Given the description of an element on the screen output the (x, y) to click on. 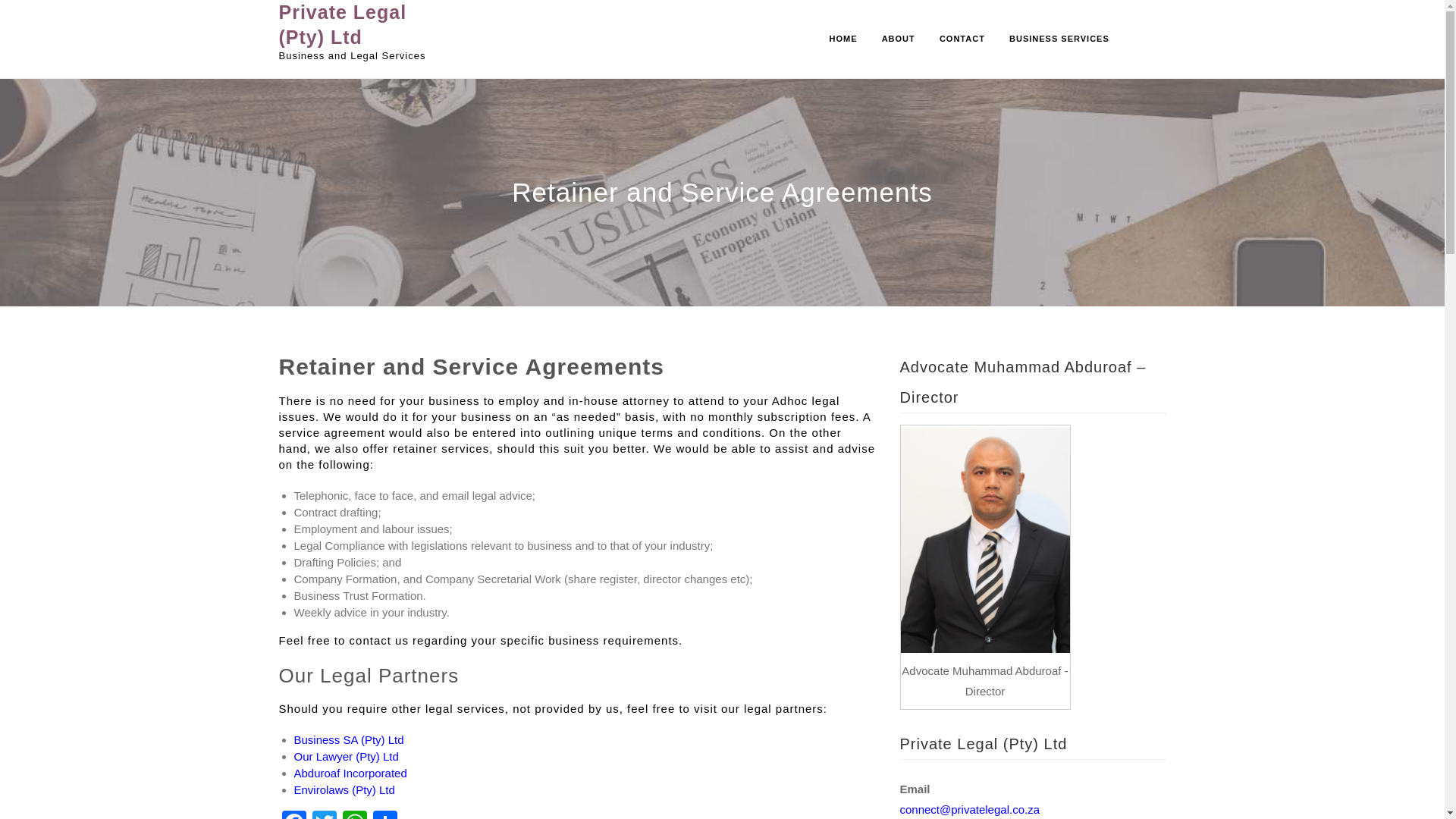
CONTACT (961, 38)
ABOUT (898, 38)
Twitter (323, 814)
Twitter (323, 814)
Abduroaf Incorporated (350, 772)
BUSINESS SERVICES (1058, 38)
HOME (842, 38)
Facebook (293, 814)
WhatsApp (354, 814)
WhatsApp (354, 814)
Facebook (293, 814)
